Given the description of an element on the screen output the (x, y) to click on. 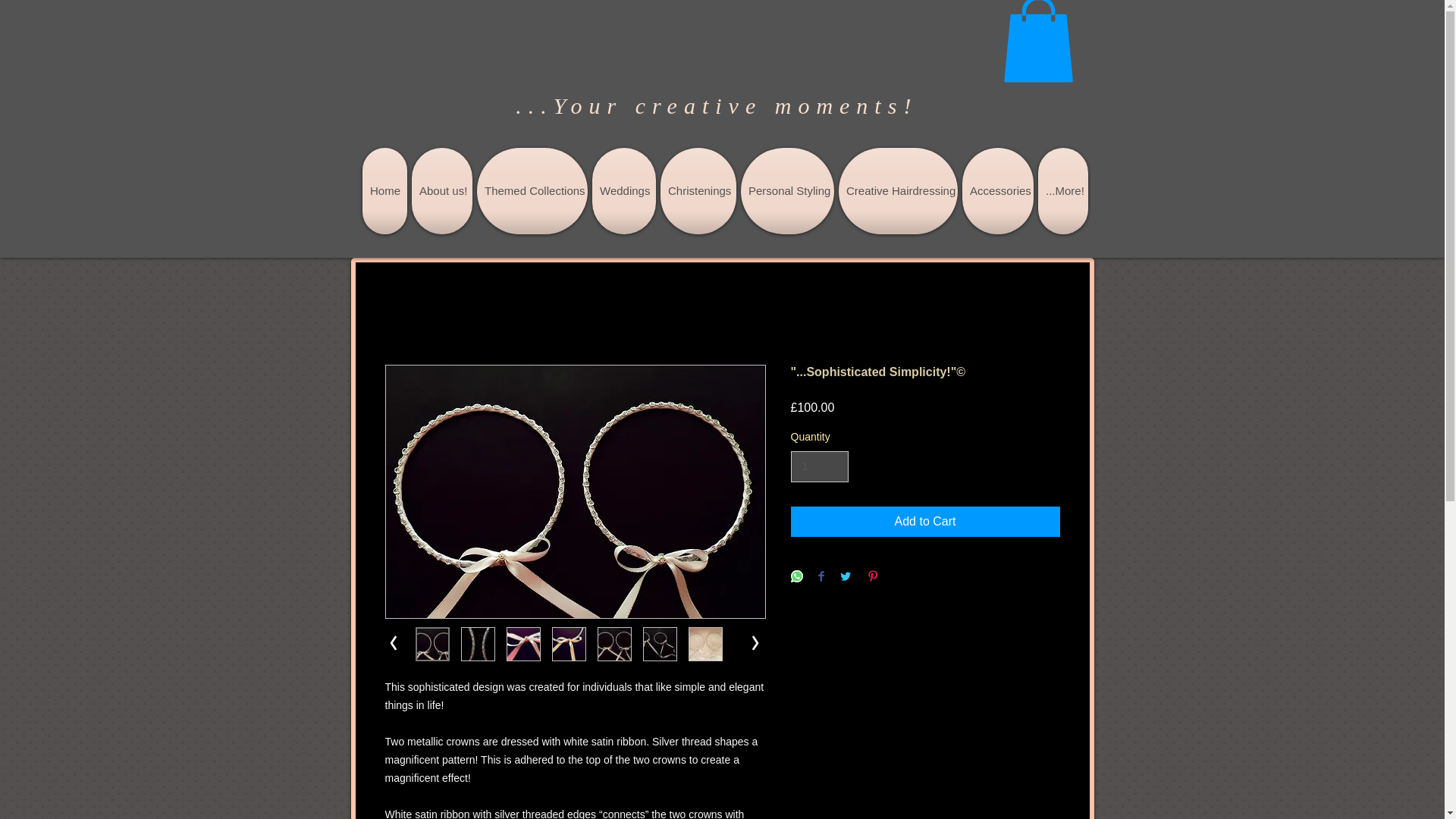
Personal Styling (786, 191)
Creative Hairdressing (897, 191)
Themed Collections (531, 191)
Christenings (698, 191)
1 (818, 466)
